Given the description of an element on the screen output the (x, y) to click on. 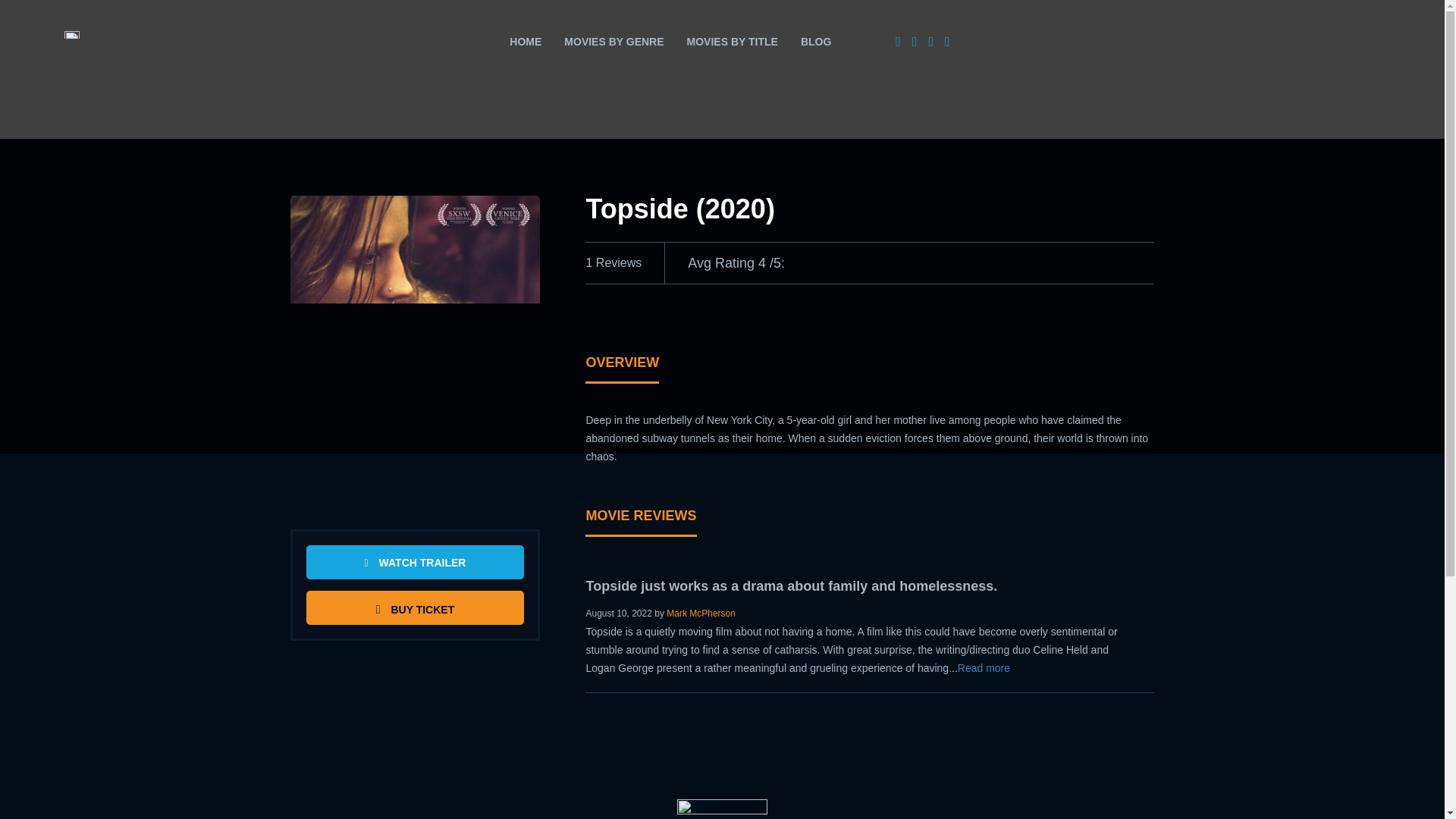
MOVIES BY GENRE (614, 41)
Read more (984, 666)
HOME (525, 41)
OVERVIEW (622, 369)
WATCH TRAILER (414, 562)
MOVIE REVIEWS (640, 522)
MOVIES BY TITLE (732, 41)
BLOG (816, 41)
Mark McPherson (700, 613)
Topside just works as a drama about family and homelessness. (791, 585)
